Given the description of an element on the screen output the (x, y) to click on. 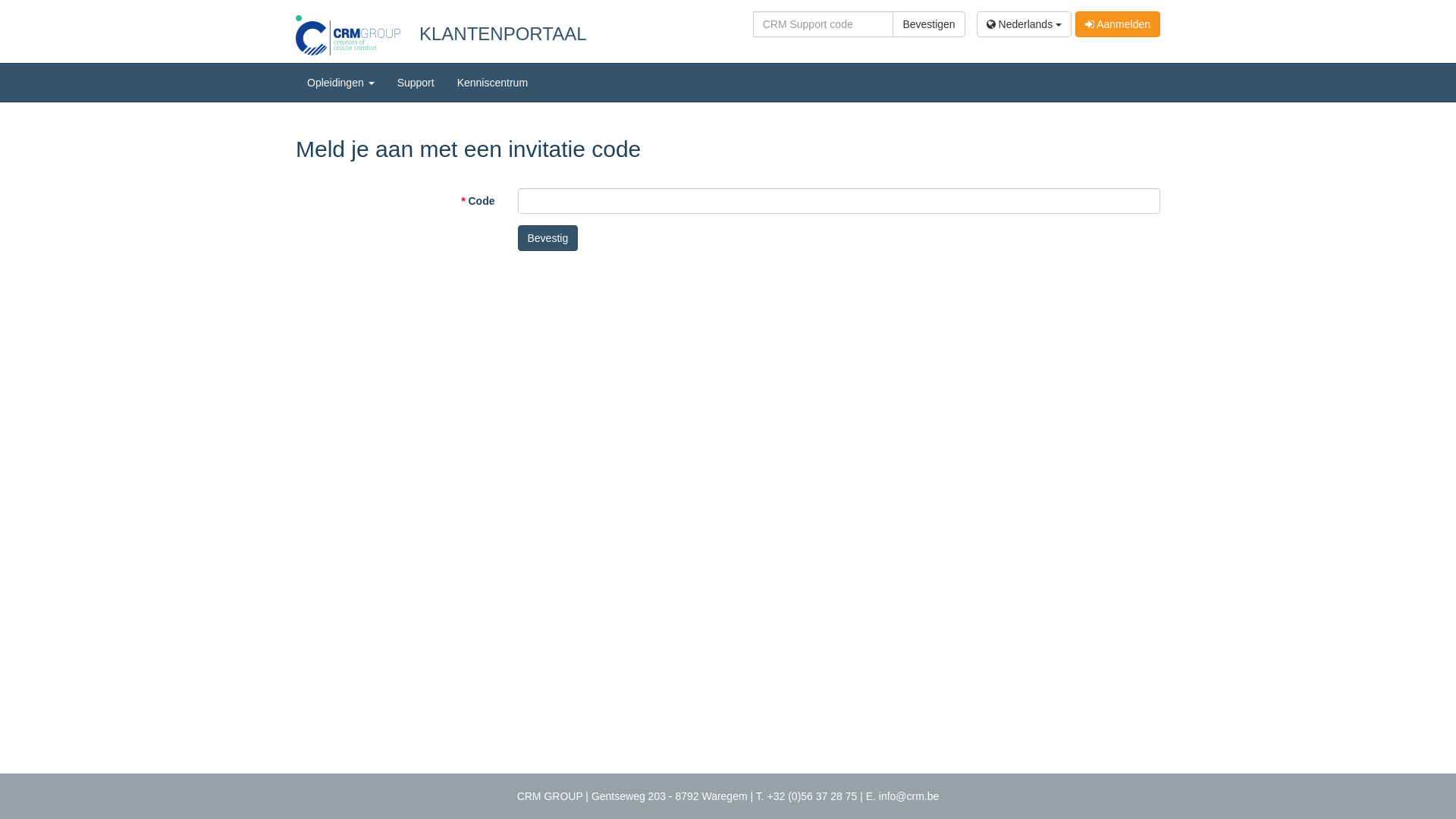
CRM Support Element type: hover (823, 24)
Bevestig Element type: text (547, 238)
Opleidingen Element type: text (340, 82)
Aanmelden Element type: text (1117, 24)
KLANTENPORTAAL Element type: text (493, 33)
Nederlands Element type: text (1023, 24)
Kenniscentrum Element type: text (492, 82)
Support Element type: text (415, 82)
info@crm.be Element type: text (908, 796)
Bevestigen Element type: text (928, 24)
